Given the description of an element on the screen output the (x, y) to click on. 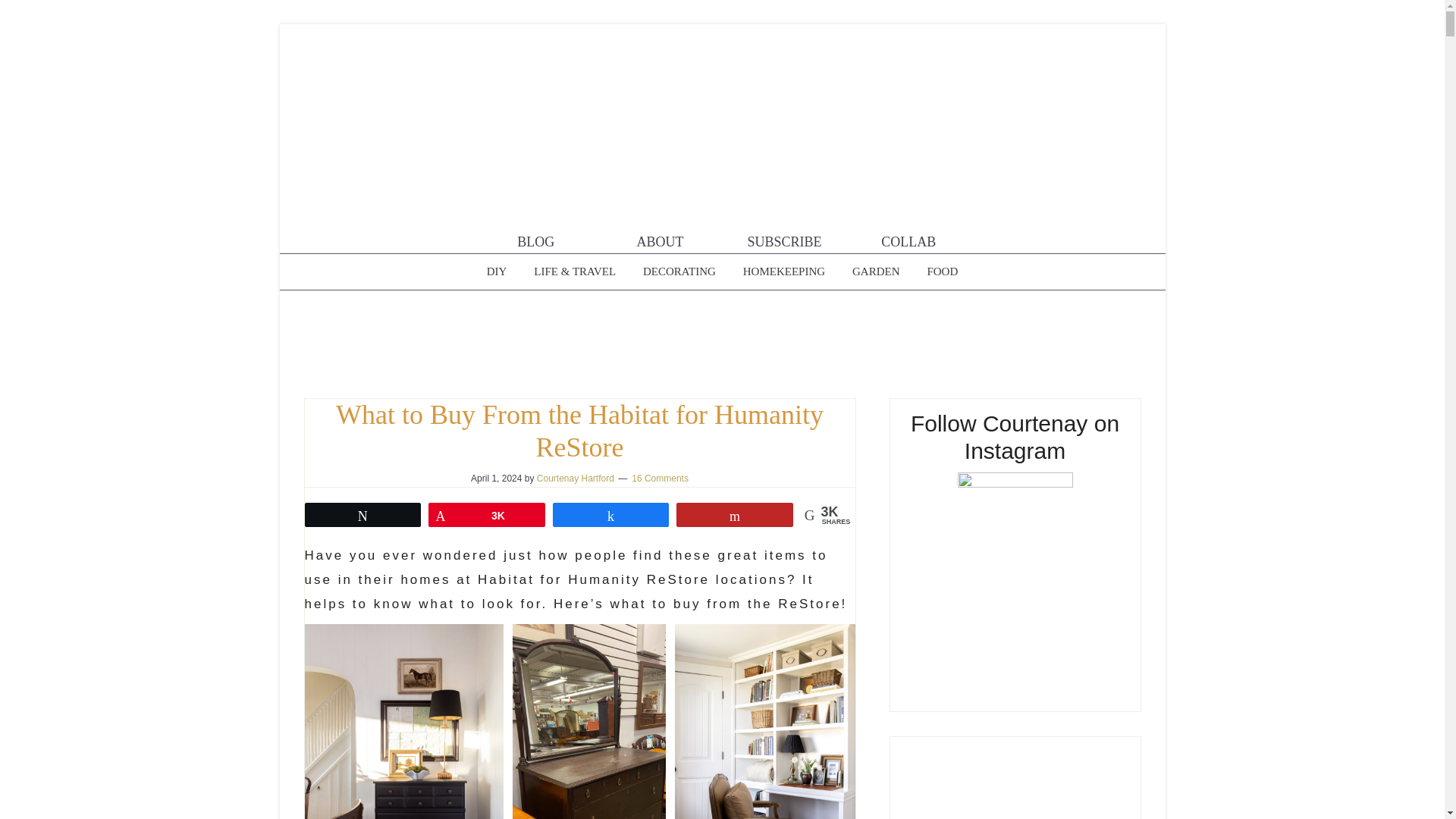
DIY (496, 271)
16 Comments (659, 478)
3K (486, 514)
SUBSCRIBE (783, 237)
GARDEN (876, 271)
FOOD (941, 271)
HOMEKEEPING (783, 271)
DECORATING (679, 271)
ABOUT (659, 237)
COLLAB (908, 237)
